Given the description of an element on the screen output the (x, y) to click on. 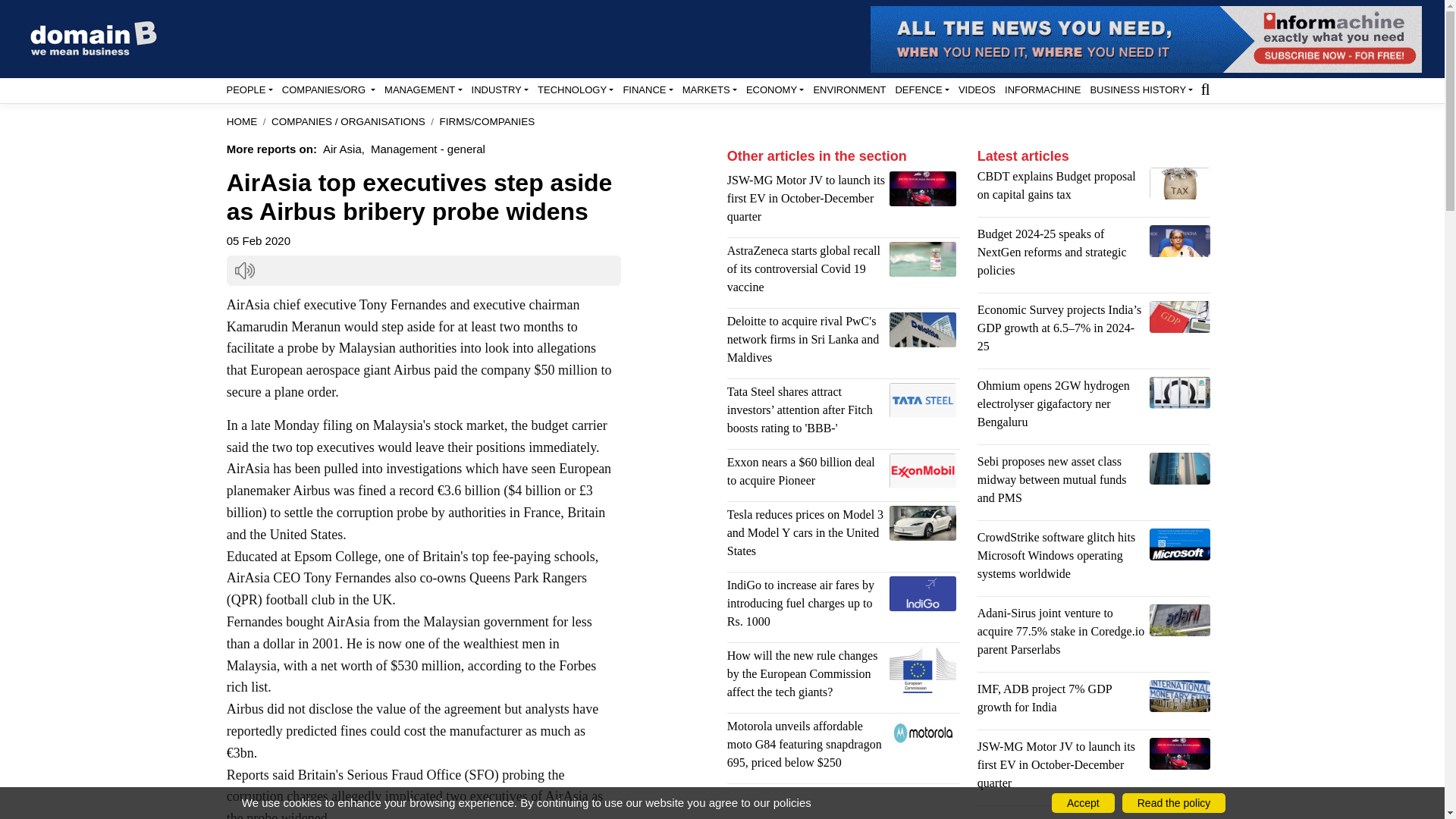
Click here to listen (244, 270)
Advertisement (843, 807)
PEOPLE (248, 89)
